Given the description of an element on the screen output the (x, y) to click on. 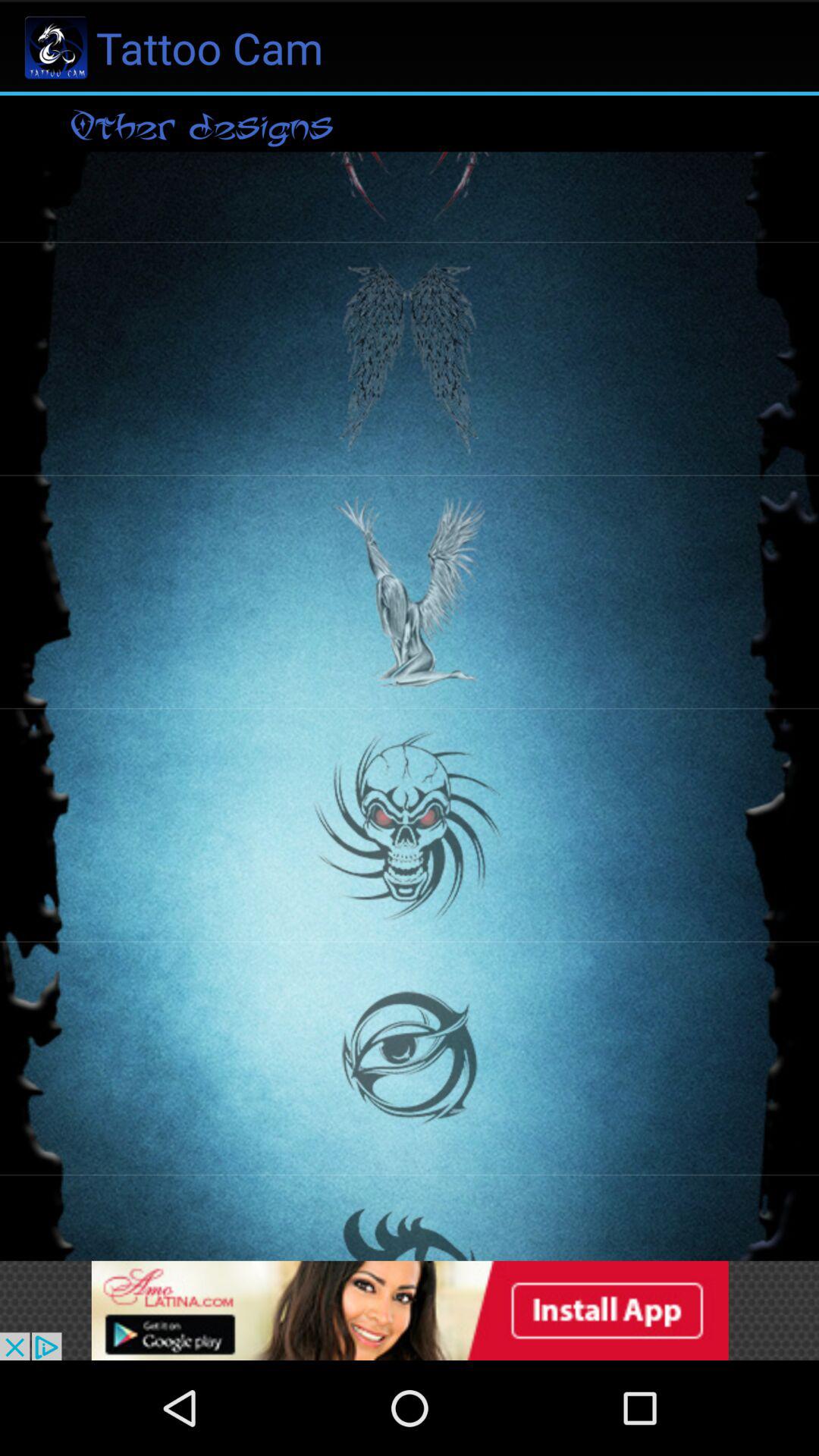
open advertisement (409, 1310)
